Given the description of an element on the screen output the (x, y) to click on. 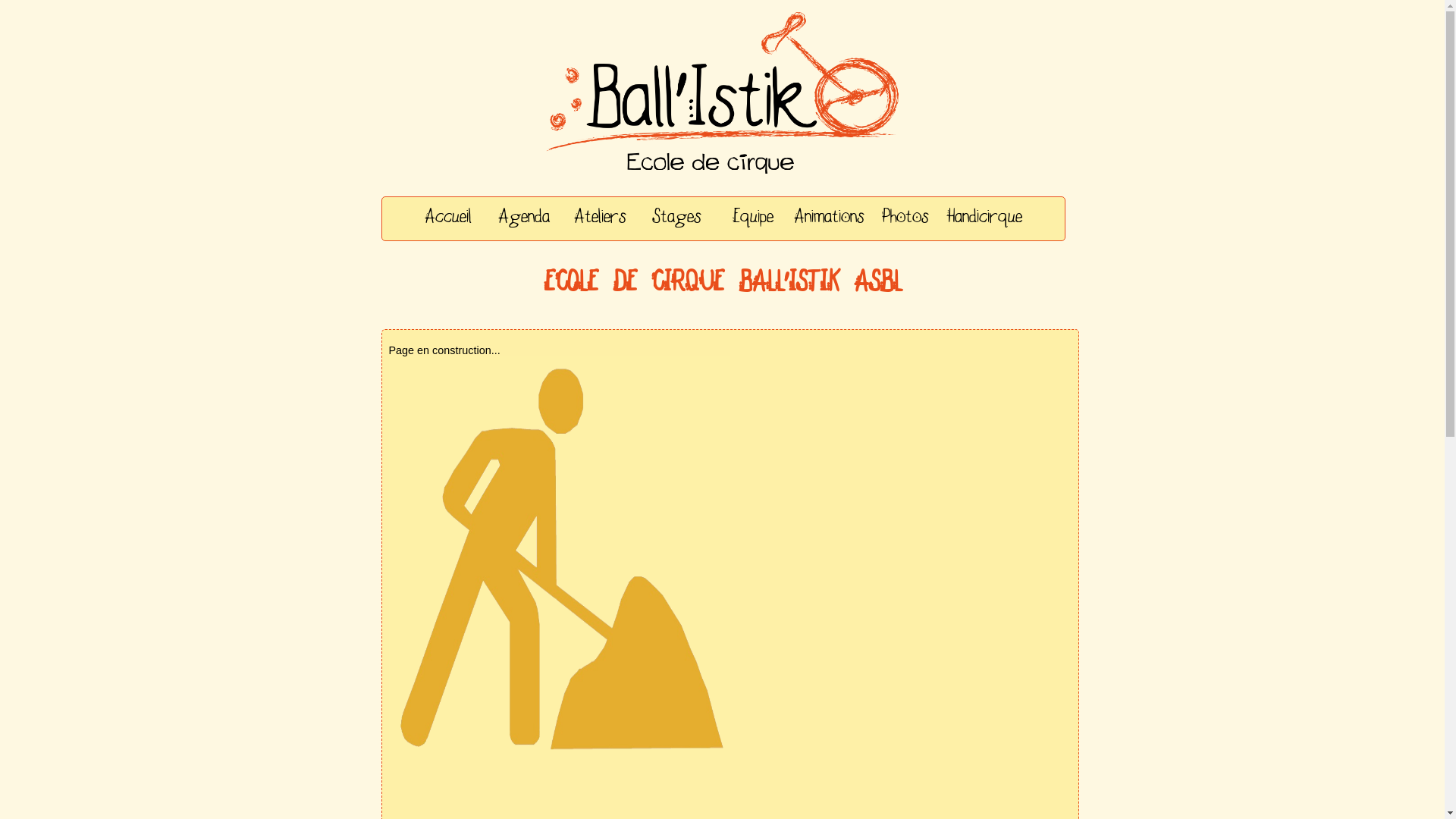
Photos Element type: text (904, 218)
Ateliers Element type: text (600, 218)
Agenda Element type: text (523, 218)
Animations Element type: text (828, 218)
Handicirque Element type: text (984, 218)
Equipe Element type: text (752, 218)
Accueil Element type: text (447, 218)
Stages Element type: text (676, 218)
